Given the description of an element on the screen output the (x, y) to click on. 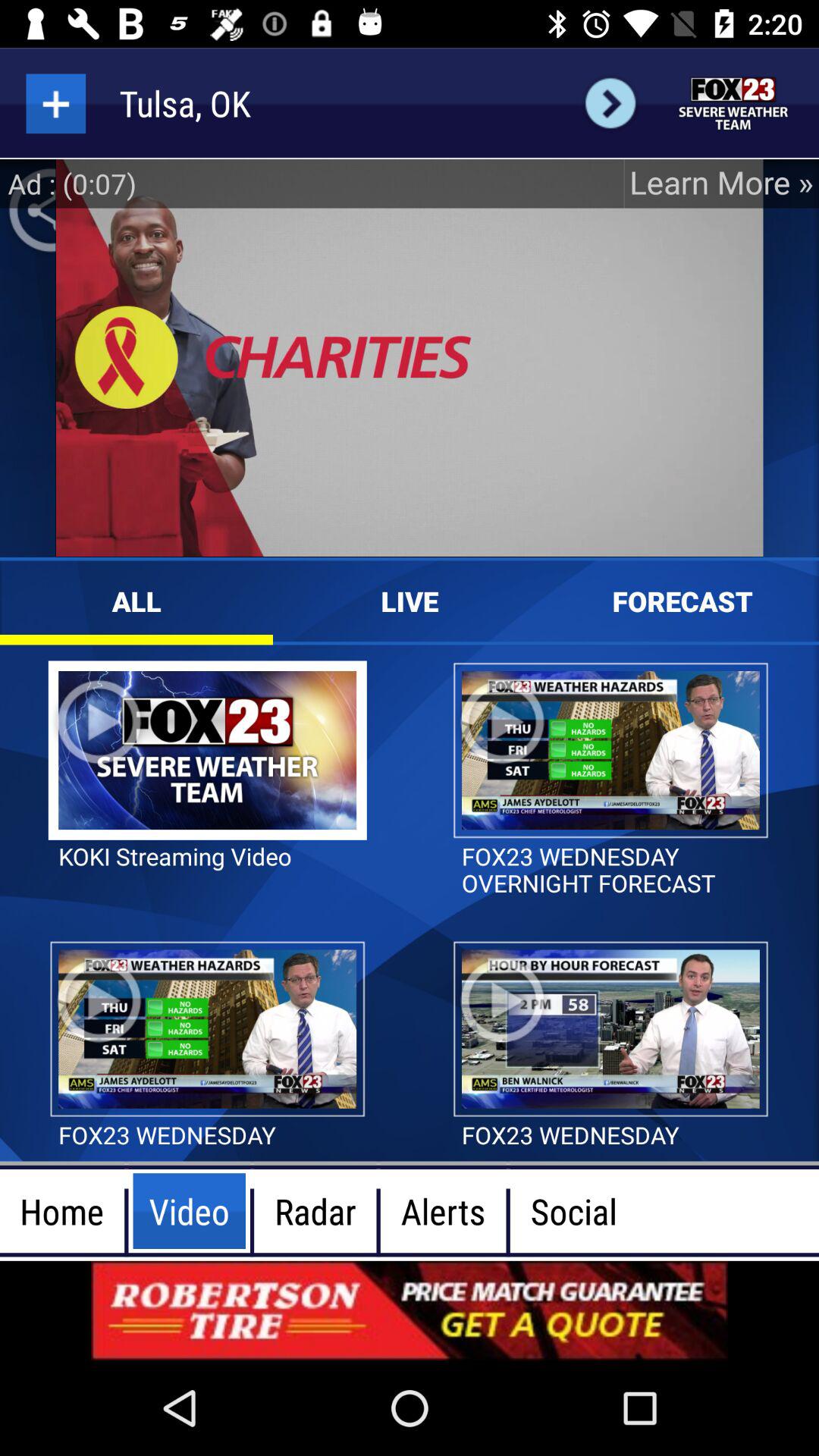
go to advertisement (734, 103)
